Given the description of an element on the screen output the (x, y) to click on. 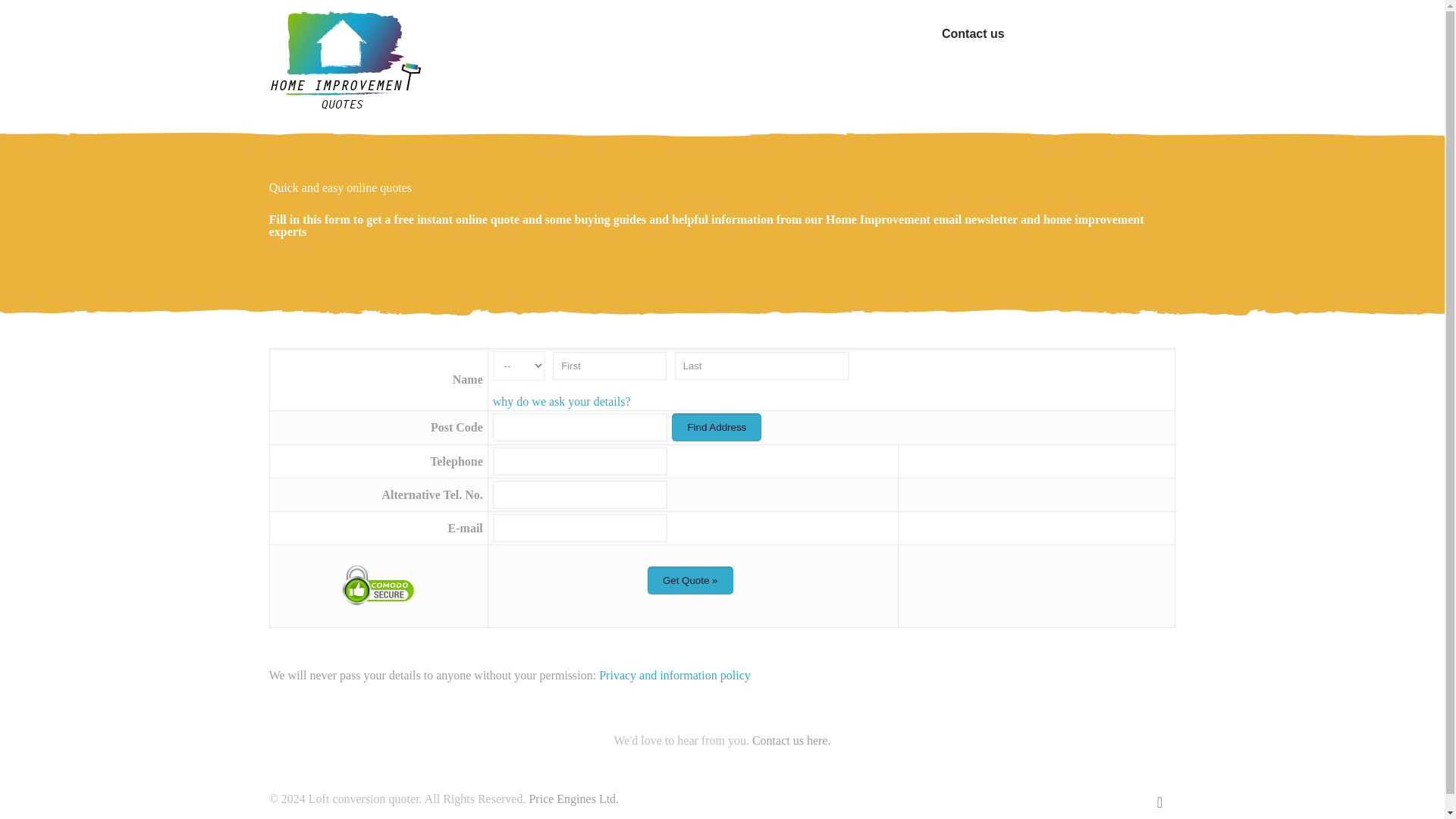
Privacy and information policy (674, 675)
Contact us (973, 33)
why do we ask your details? (561, 400)
Find Address (716, 427)
Contact us here. (791, 739)
Loft conversion quoter (344, 61)
Price Engines Ltd. (573, 798)
